Given the description of an element on the screen output the (x, y) to click on. 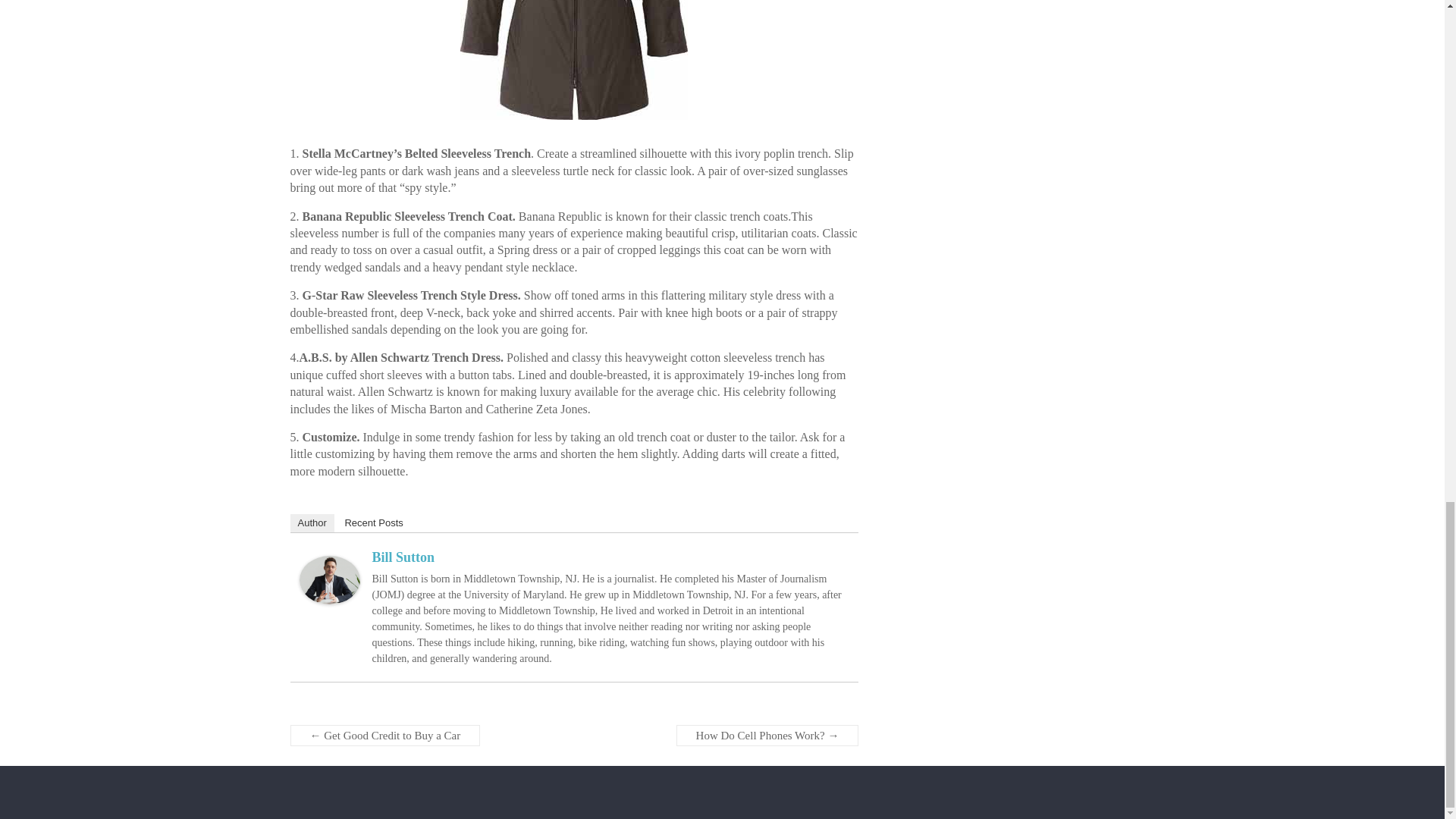
Bill Sutton (328, 562)
Recent Posts (373, 523)
Author (311, 523)
Bill Sutton (402, 557)
